Given the description of an element on the screen output the (x, y) to click on. 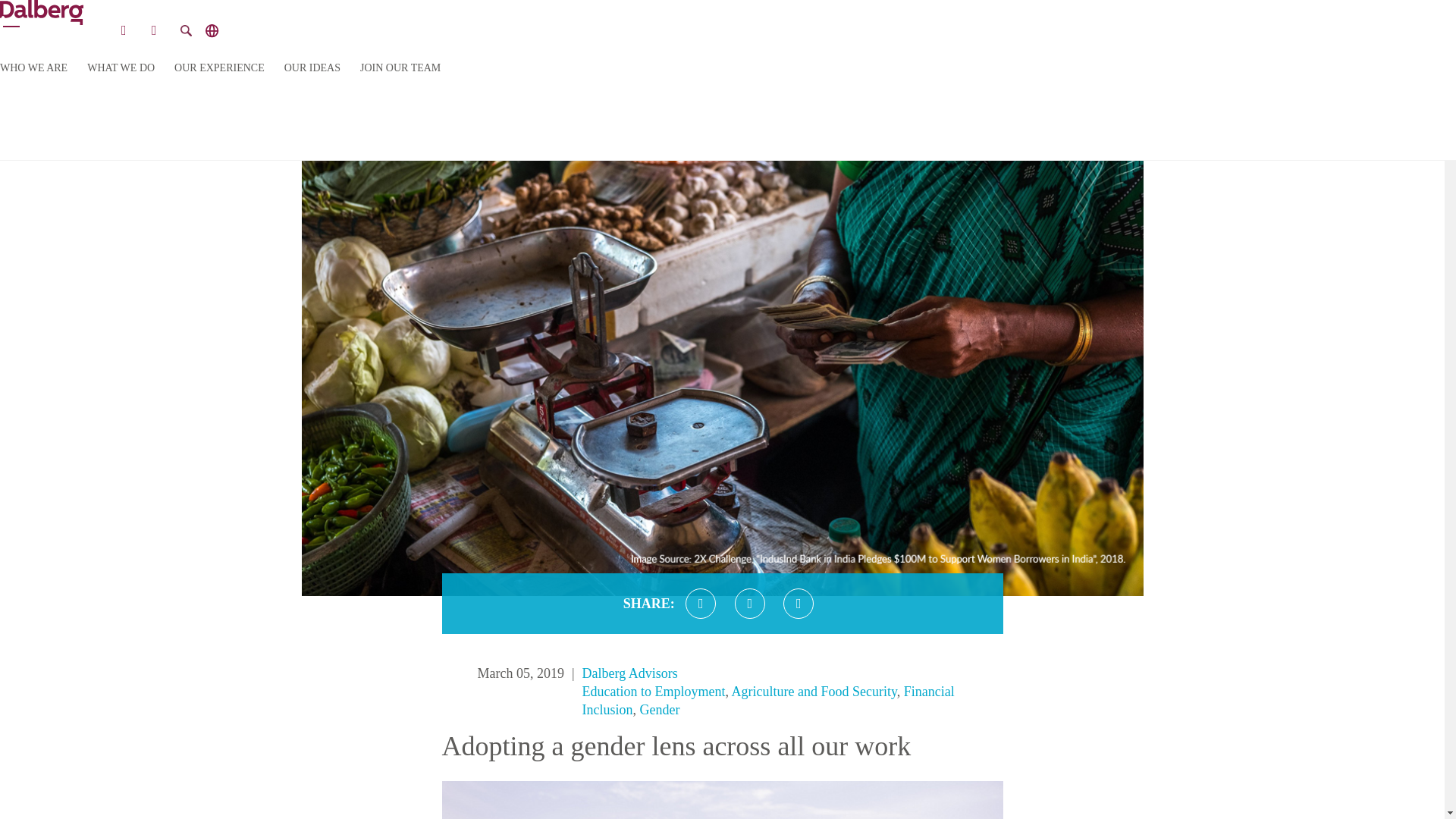
Dalberg Advisors (630, 672)
WHAT WE DO (120, 67)
OUR EXPERIENCE (219, 67)
WHO WE ARE (33, 67)
JOIN OUR TEAM (400, 67)
OUR IDEAS (311, 67)
